Given the description of an element on the screen output the (x, y) to click on. 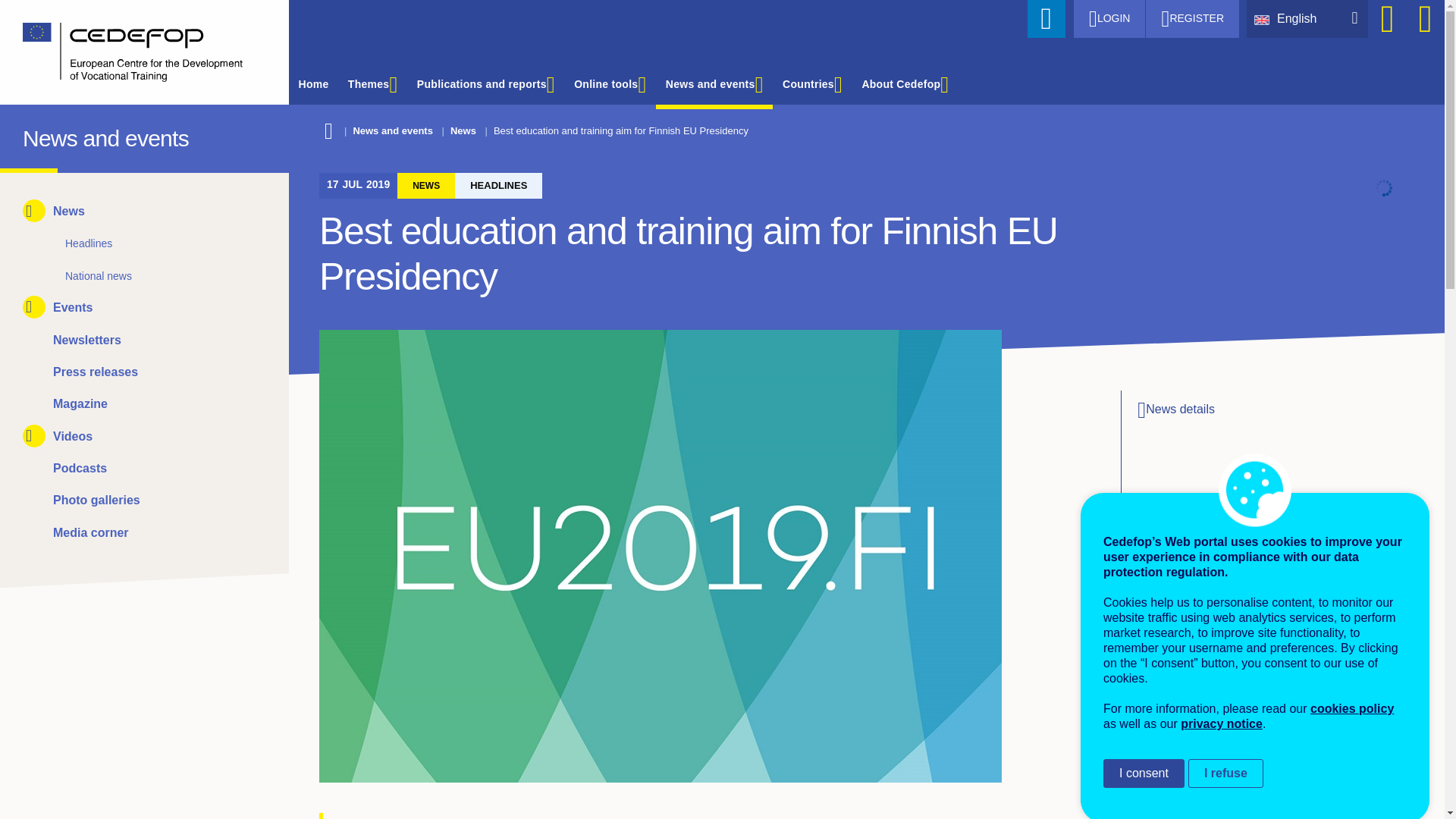
Home (133, 52)
Apply (1046, 18)
Home (37, 135)
CEDEFOP (37, 135)
